Given the description of an element on the screen output the (x, y) to click on. 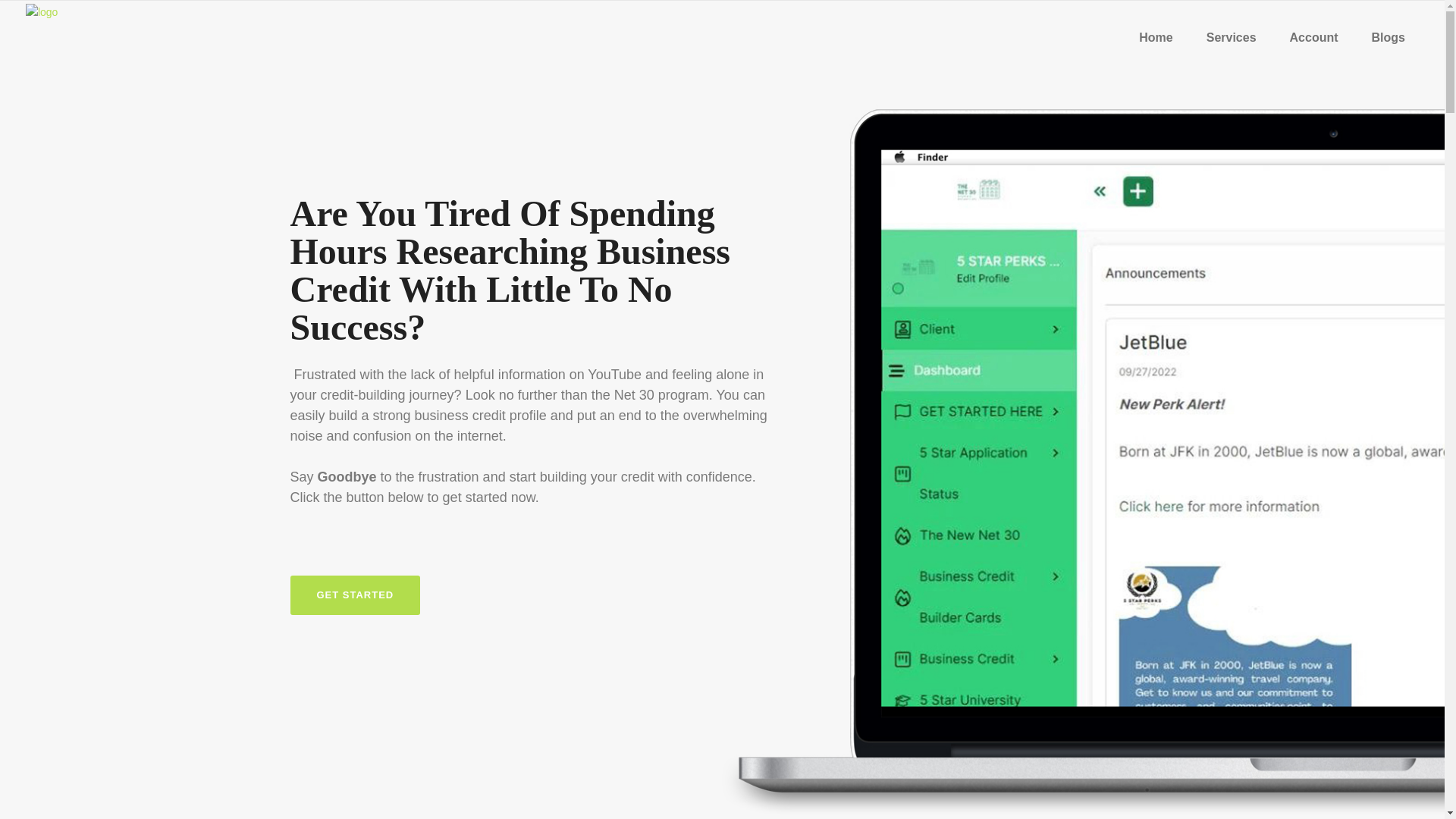
Services (1231, 38)
Account (1314, 38)
